Given the description of an element on the screen output the (x, y) to click on. 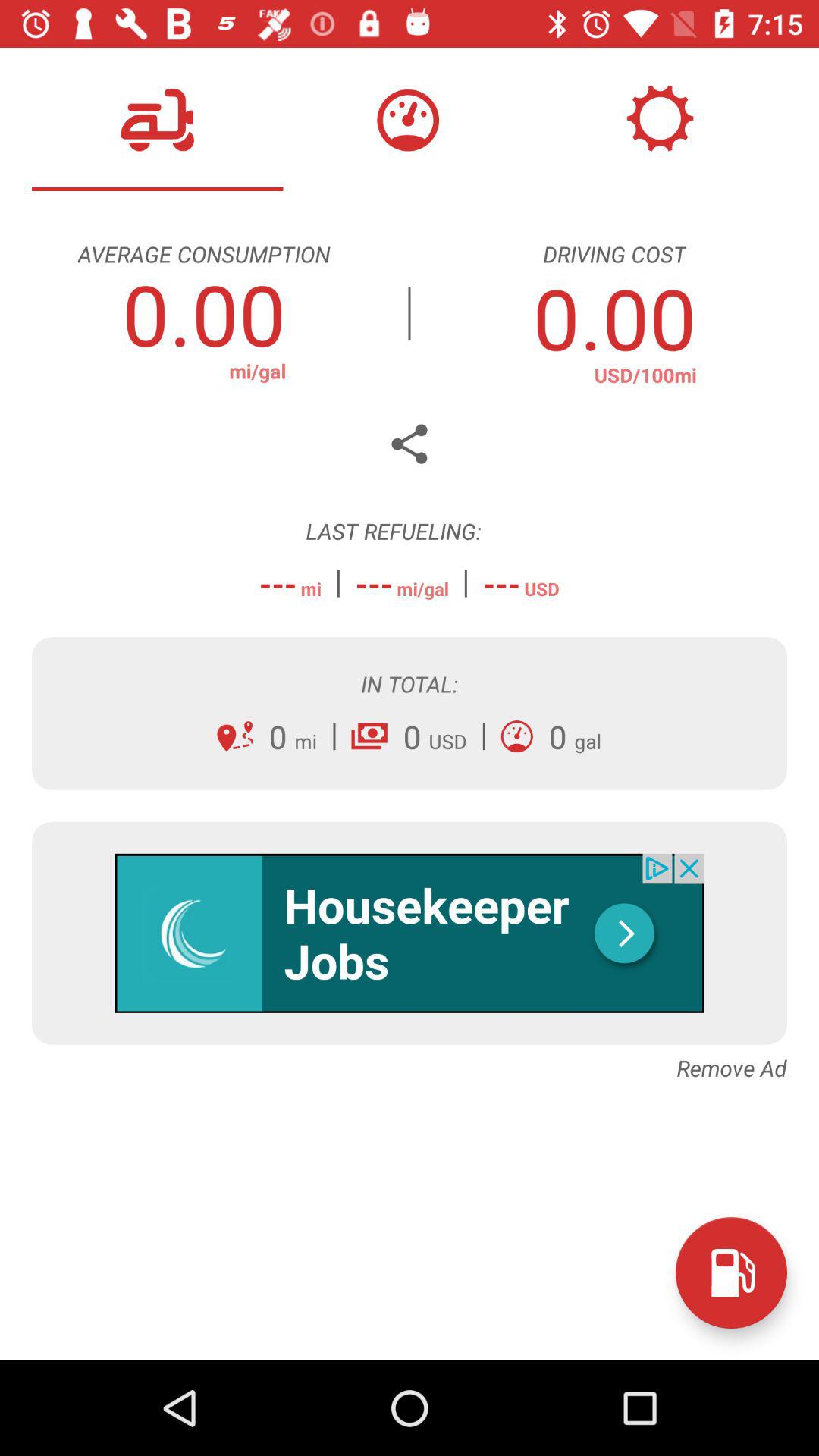
job offer taggle bar (409, 932)
